Given the description of an element on the screen output the (x, y) to click on. 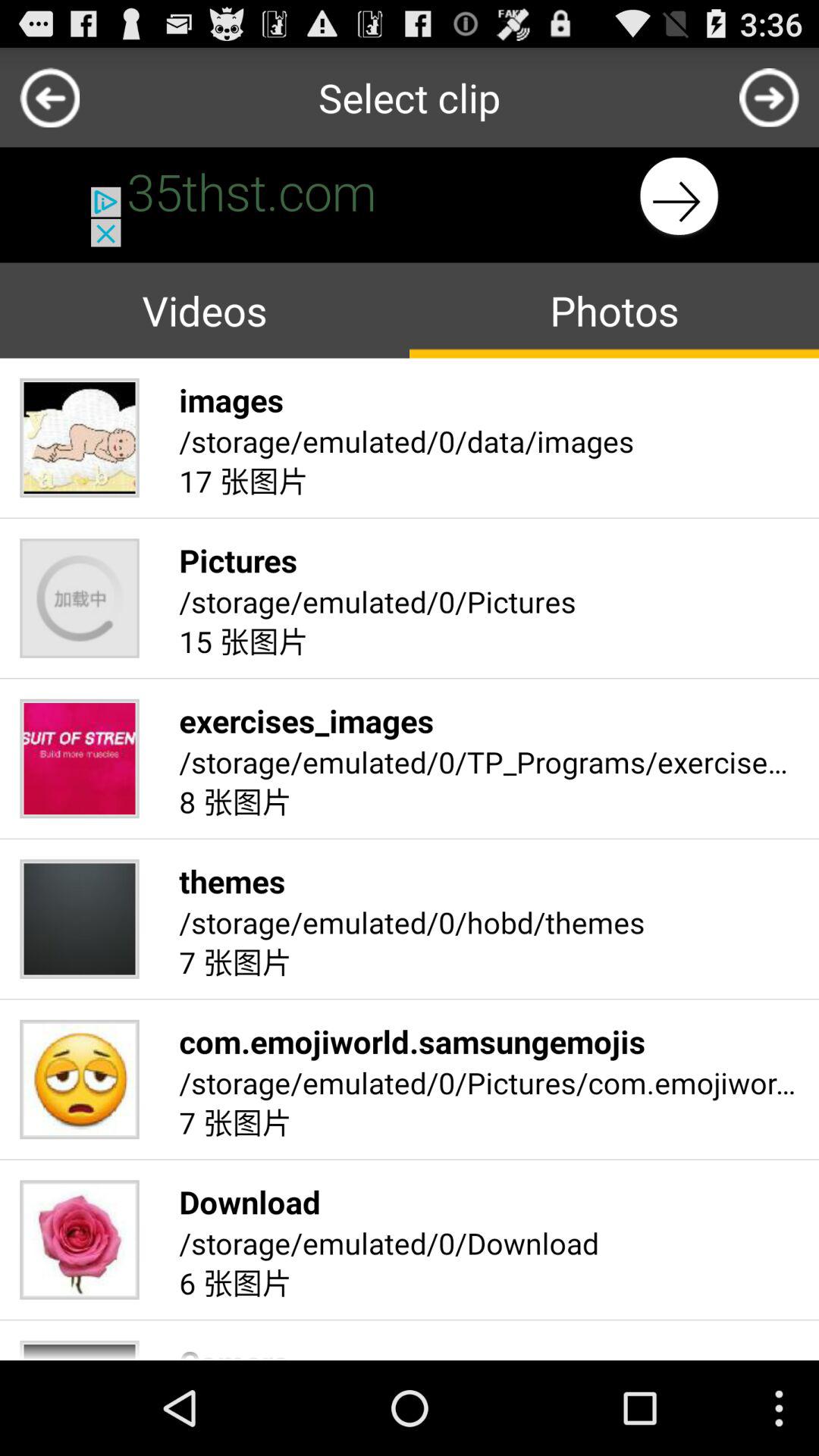
go to previous (49, 97)
